Given the description of an element on the screen output the (x, y) to click on. 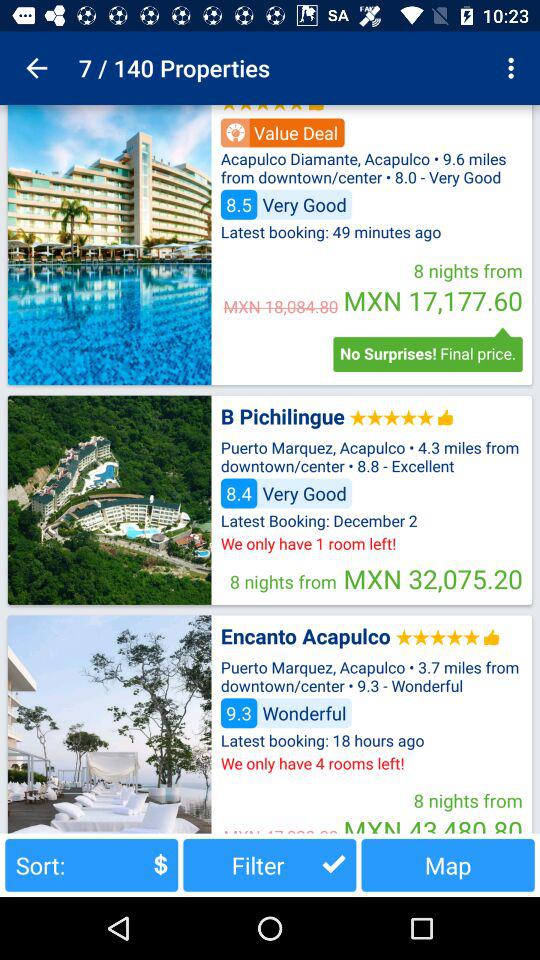
click in the image (109, 499)
